Given the description of an element on the screen output the (x, y) to click on. 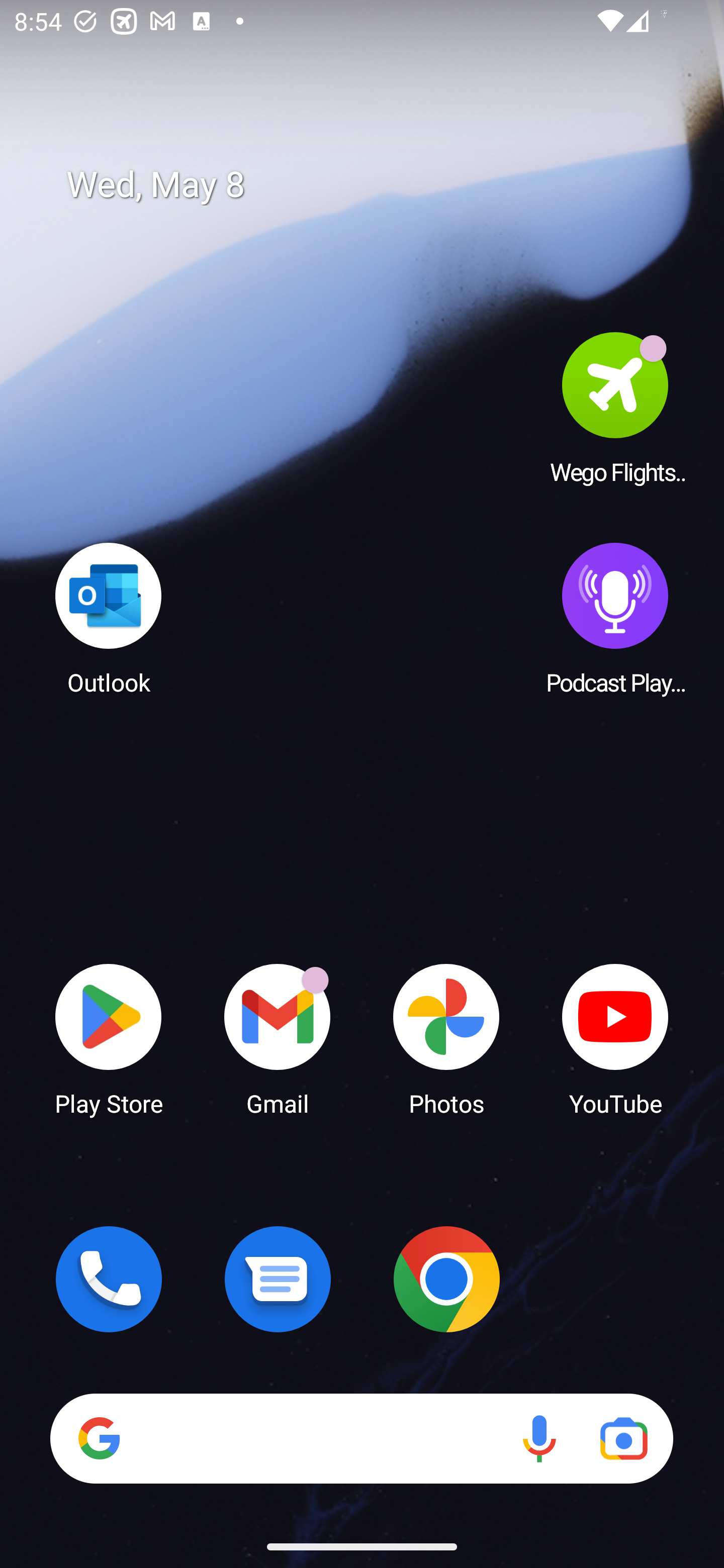
Wed, May 8 (375, 184)
Outlook (108, 617)
Podcast Player (615, 617)
Play Store (108, 1038)
Gmail Gmail has 17 notifications (277, 1038)
Photos (445, 1038)
YouTube (615, 1038)
Phone (108, 1279)
Messages (277, 1279)
Chrome (446, 1279)
Search Voice search Google Lens (361, 1438)
Voice search (539, 1438)
Google Lens (623, 1438)
